Given the description of an element on the screen output the (x, y) to click on. 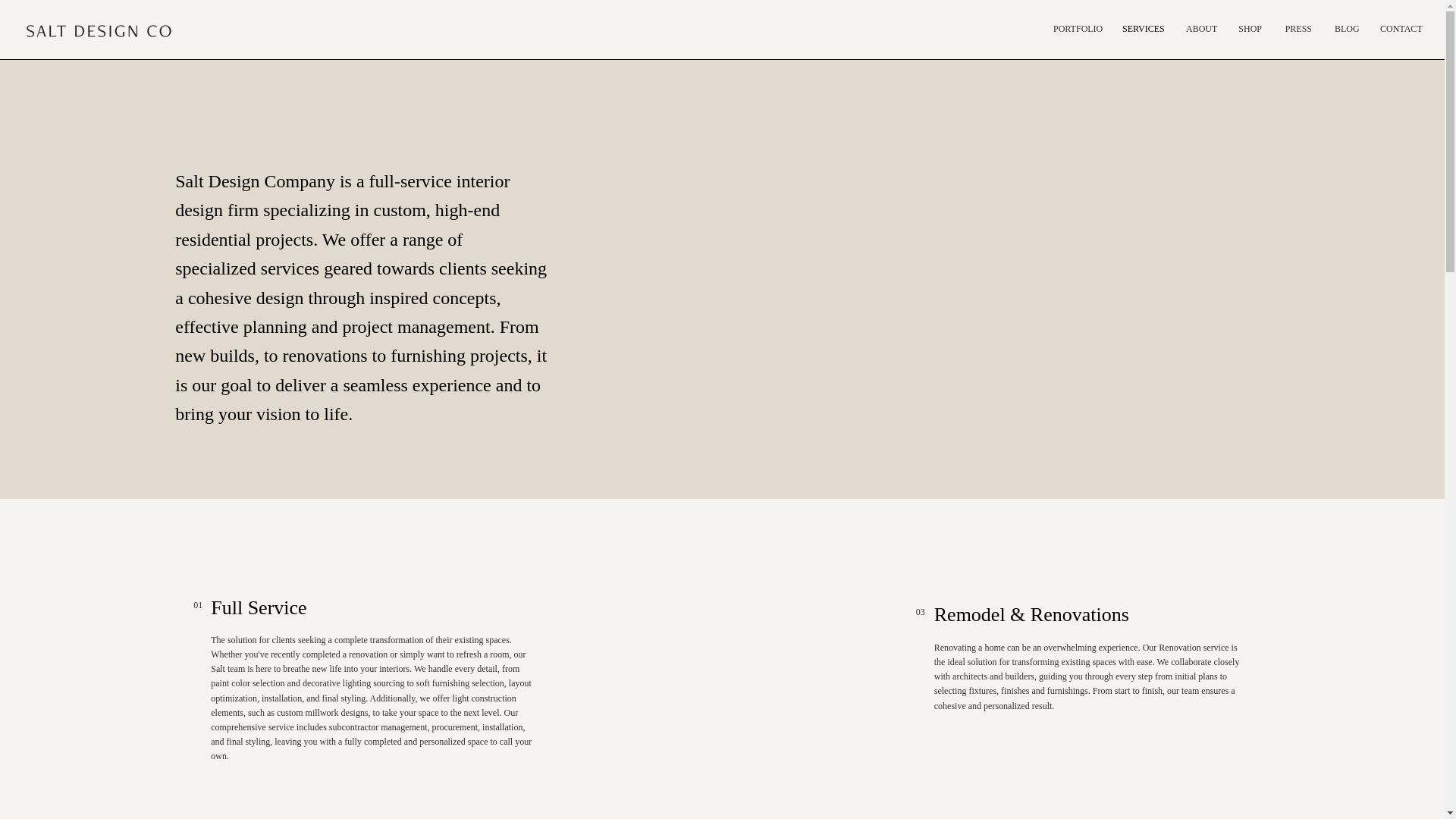
PORTFOLIO (1076, 28)
CONTACT (1398, 28)
ABOUT (1199, 28)
SERVICES (1142, 28)
SHOP (1248, 28)
BLOG (1345, 28)
PRESS (1297, 28)
